Given the description of an element on the screen output the (x, y) to click on. 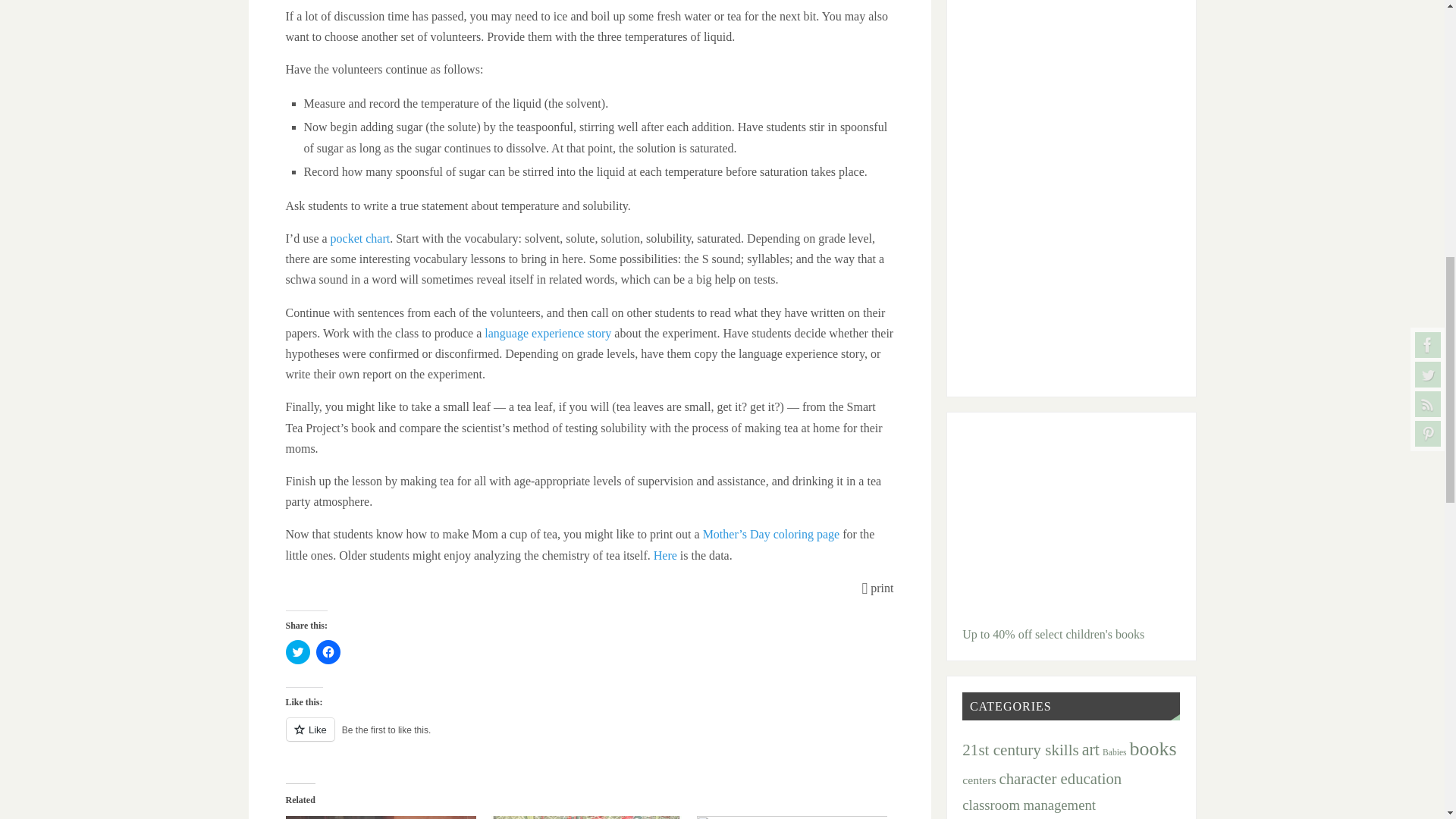
pocket chart (360, 237)
language experience story (547, 332)
FreshPlans Visits the Chocolate Museum (380, 817)
Like or Reblog (589, 738)
Here (665, 554)
Click to share on Twitter (296, 651)
Click to share on Facebook (327, 651)
